Given the description of an element on the screen output the (x, y) to click on. 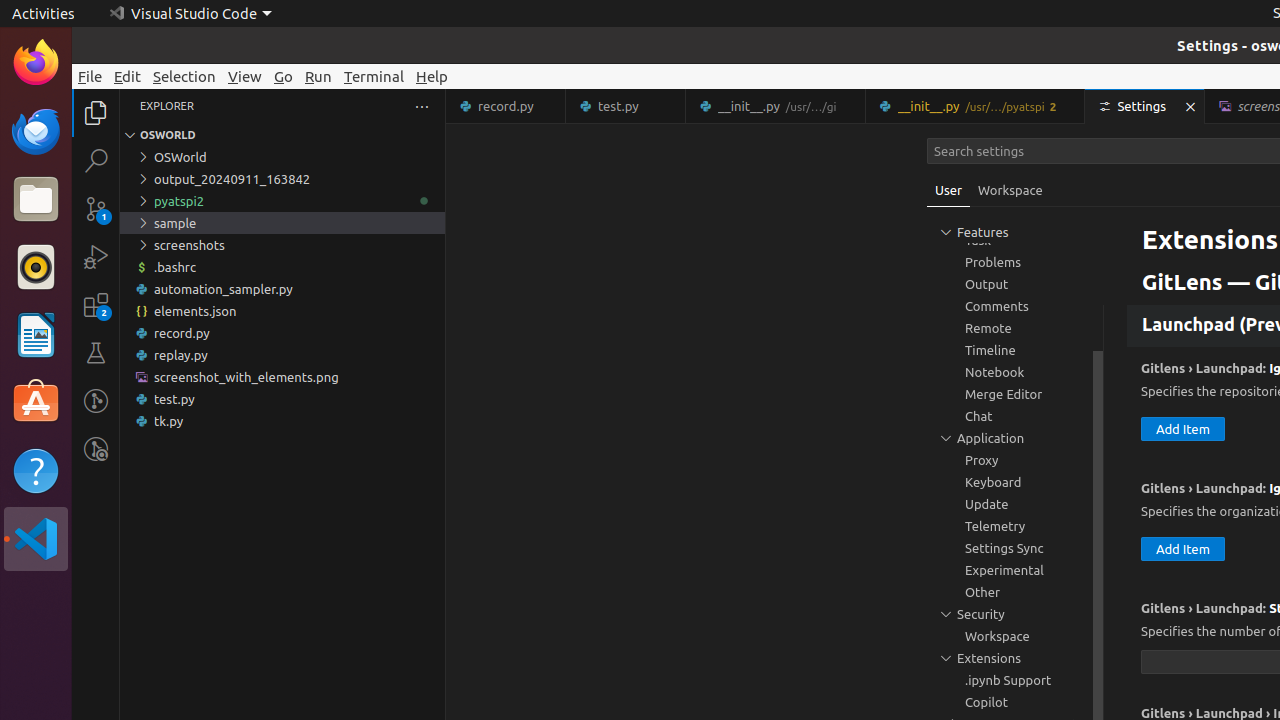
Security, group Element type: tree-item (1015, 614)
Application, group Element type: tree-item (1015, 438)
